Given the description of an element on the screen output the (x, y) to click on. 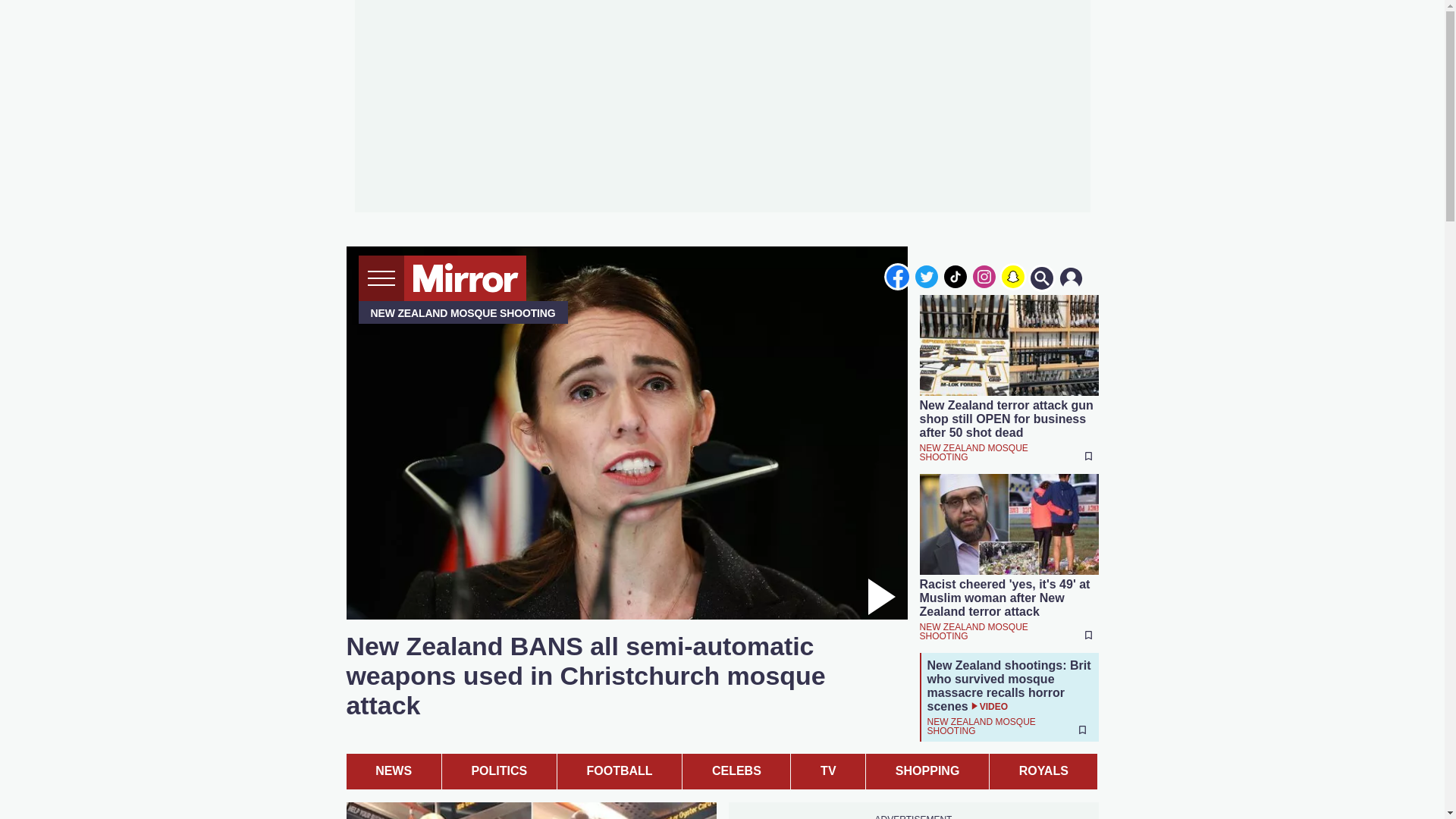
NEW ZEALAND MOSQUE SHOOTING (987, 724)
instagram (984, 276)
tiktok (955, 276)
NEW ZEALAND MOSQUE SHOOTING (986, 630)
CELEBS (736, 771)
ROYALS (1043, 771)
facebook (897, 276)
SHOPPING (927, 771)
twitter (926, 276)
snapchat (1012, 276)
